Given the description of an element on the screen output the (x, y) to click on. 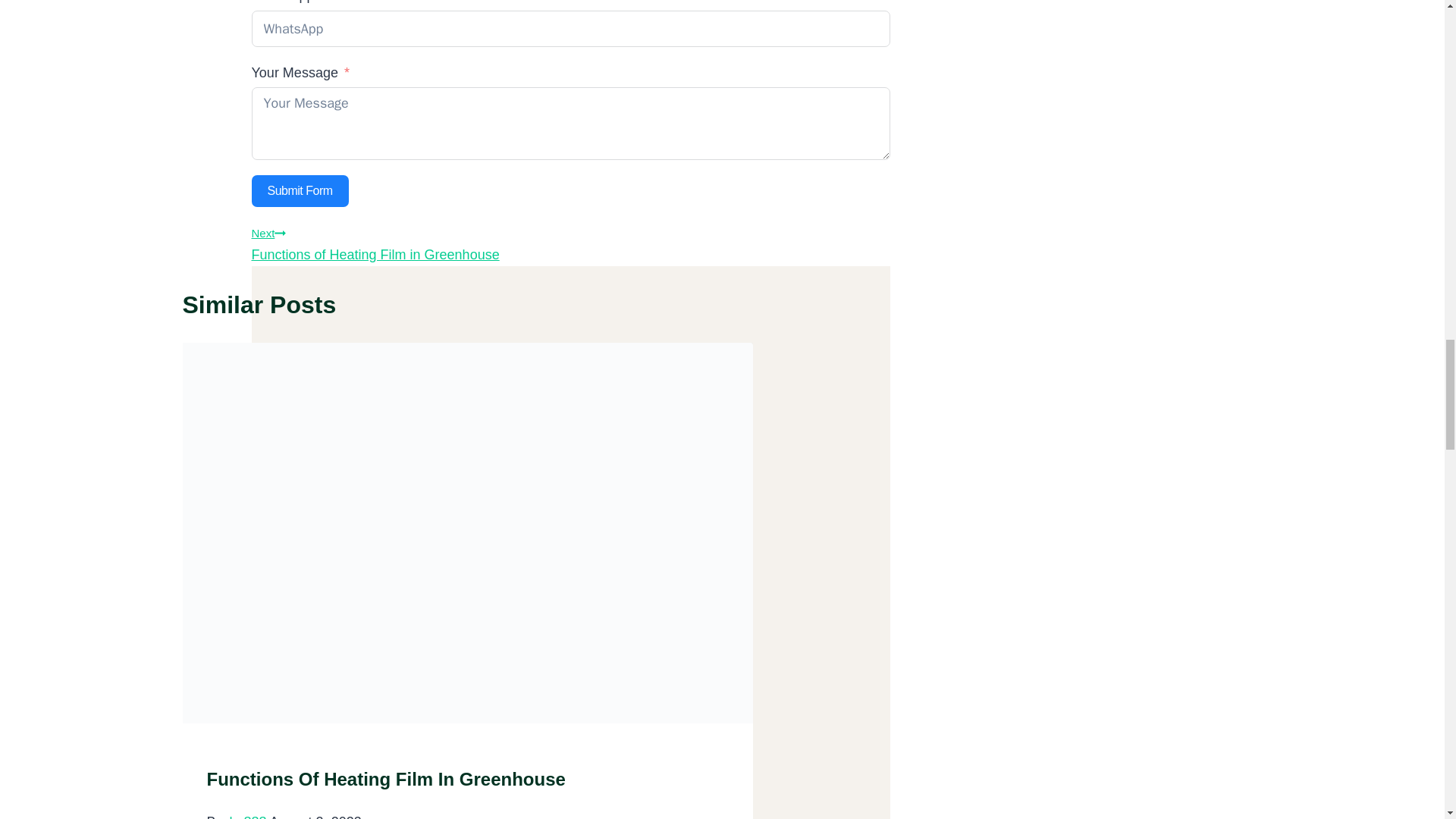
xhc888 (570, 241)
Submit Form (244, 816)
Functions Of Heating Film In Greenhouse (300, 191)
